Given the description of an element on the screen output the (x, y) to click on. 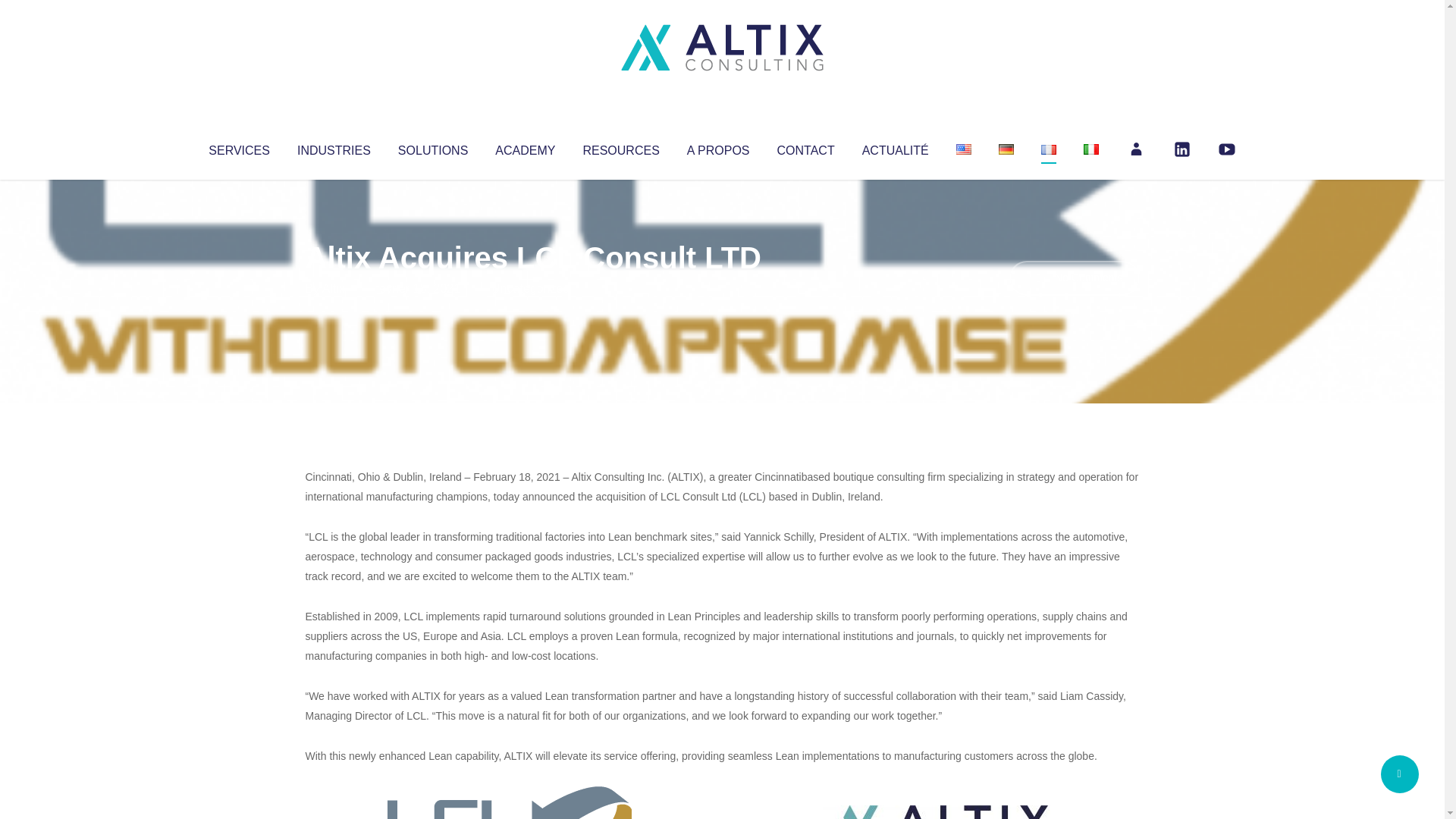
Altix (333, 287)
INDUSTRIES (334, 146)
SERVICES (238, 146)
No Comments (1073, 278)
RESOURCES (620, 146)
ACADEMY (524, 146)
Uncategorized (530, 287)
SOLUTIONS (432, 146)
A PROPOS (718, 146)
Articles par Altix (333, 287)
